Given the description of an element on the screen output the (x, y) to click on. 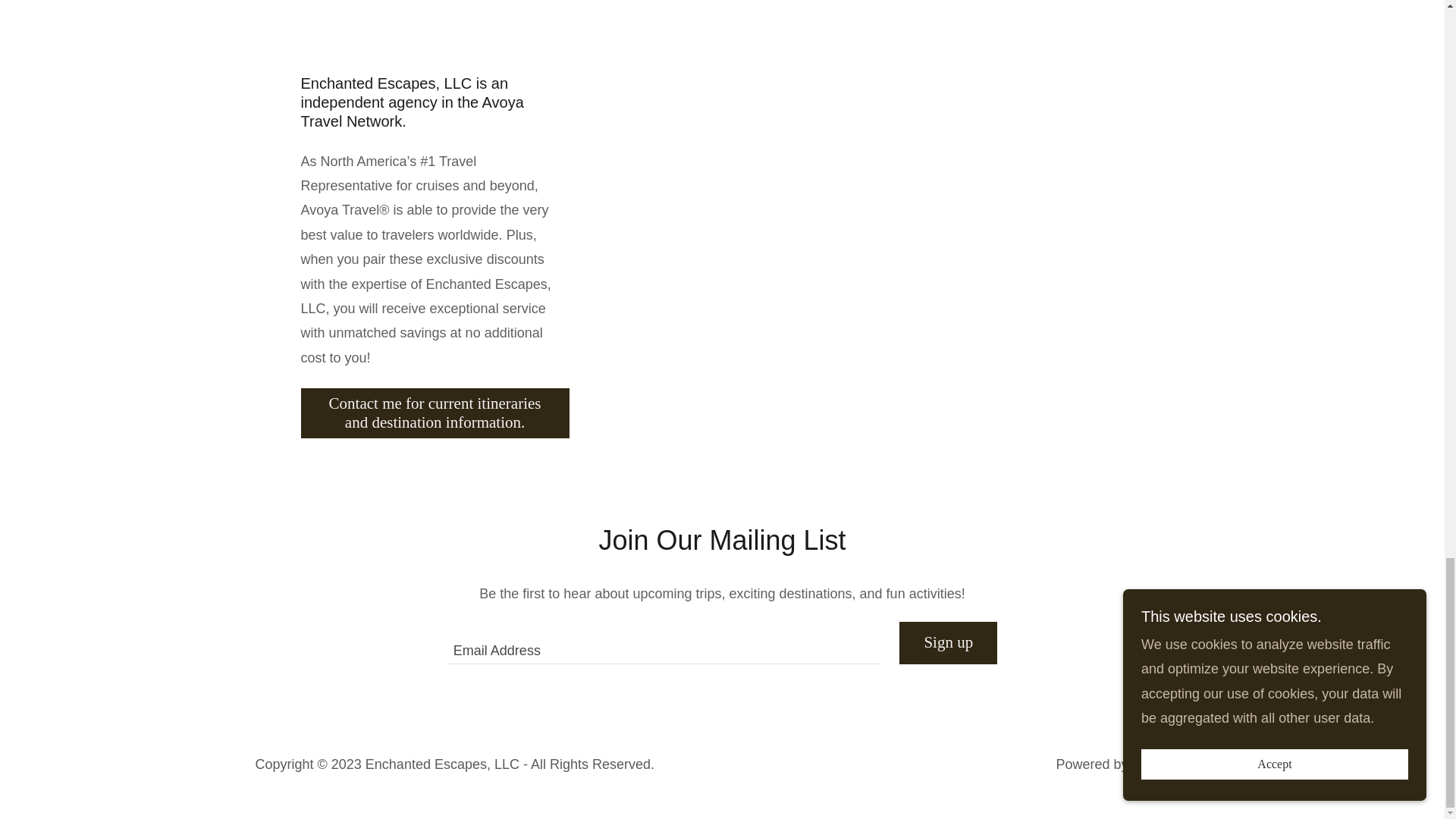
GoDaddy (1160, 764)
Sign up (948, 642)
